Given the description of an element on the screen output the (x, y) to click on. 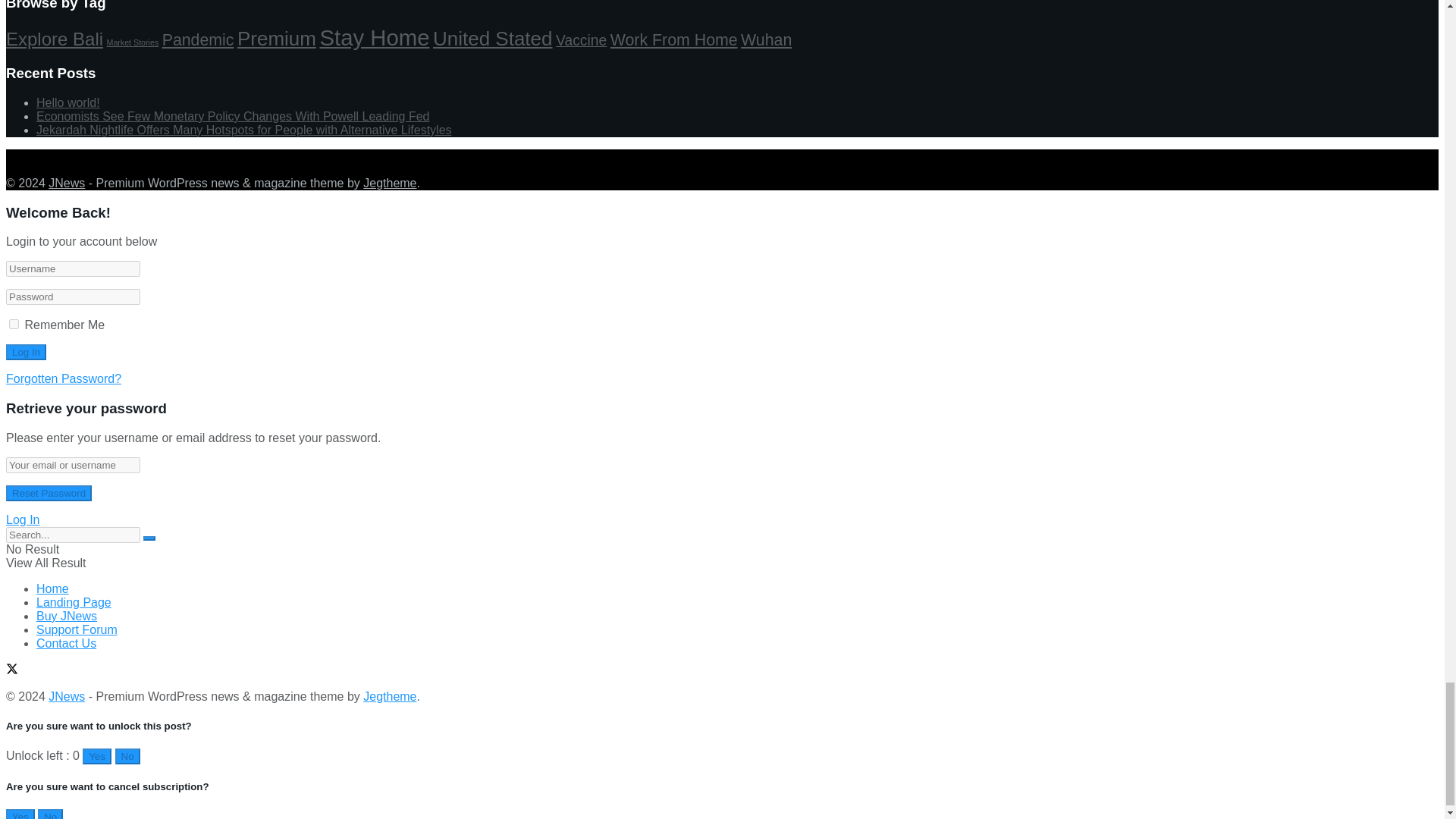
Log In (25, 351)
Reset Password (48, 493)
true (13, 324)
Jegtheme (389, 696)
Jegtheme (389, 182)
